Given the description of an element on the screen output the (x, y) to click on. 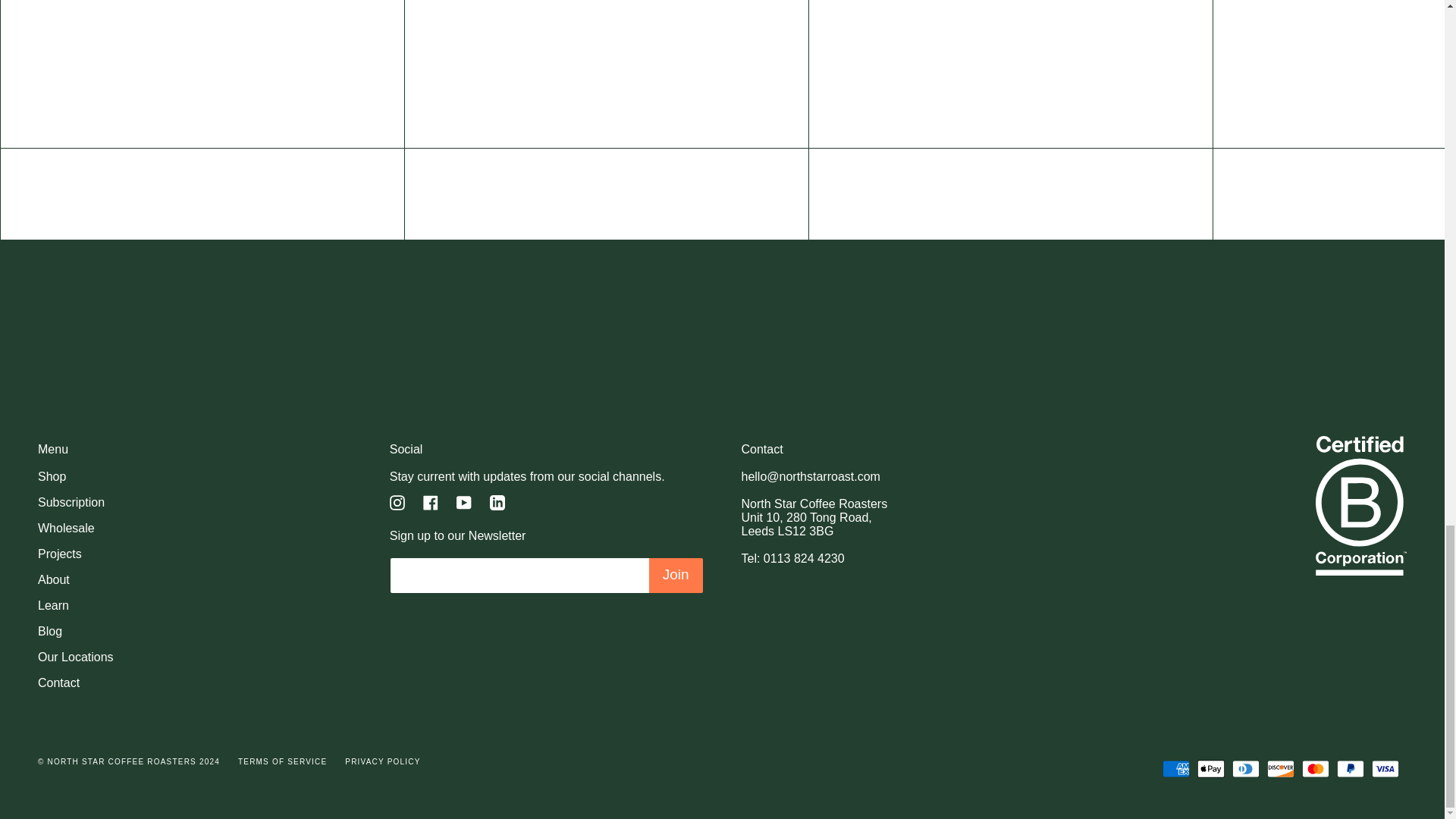
PayPal (1350, 769)
American Express (1175, 769)
Apple Pay (1210, 769)
North Star Coffee Roasters on Linkedin (497, 502)
North Star Coffee Roasters on Facebook (430, 502)
Diners Club (1245, 769)
Discover (1280, 769)
North Star Coffee Roasters on Instagram (397, 502)
Mastercard (1315, 769)
North Star Coffee Roasters on YouTube (464, 502)
Visa (1385, 769)
